Given the description of an element on the screen output the (x, y) to click on. 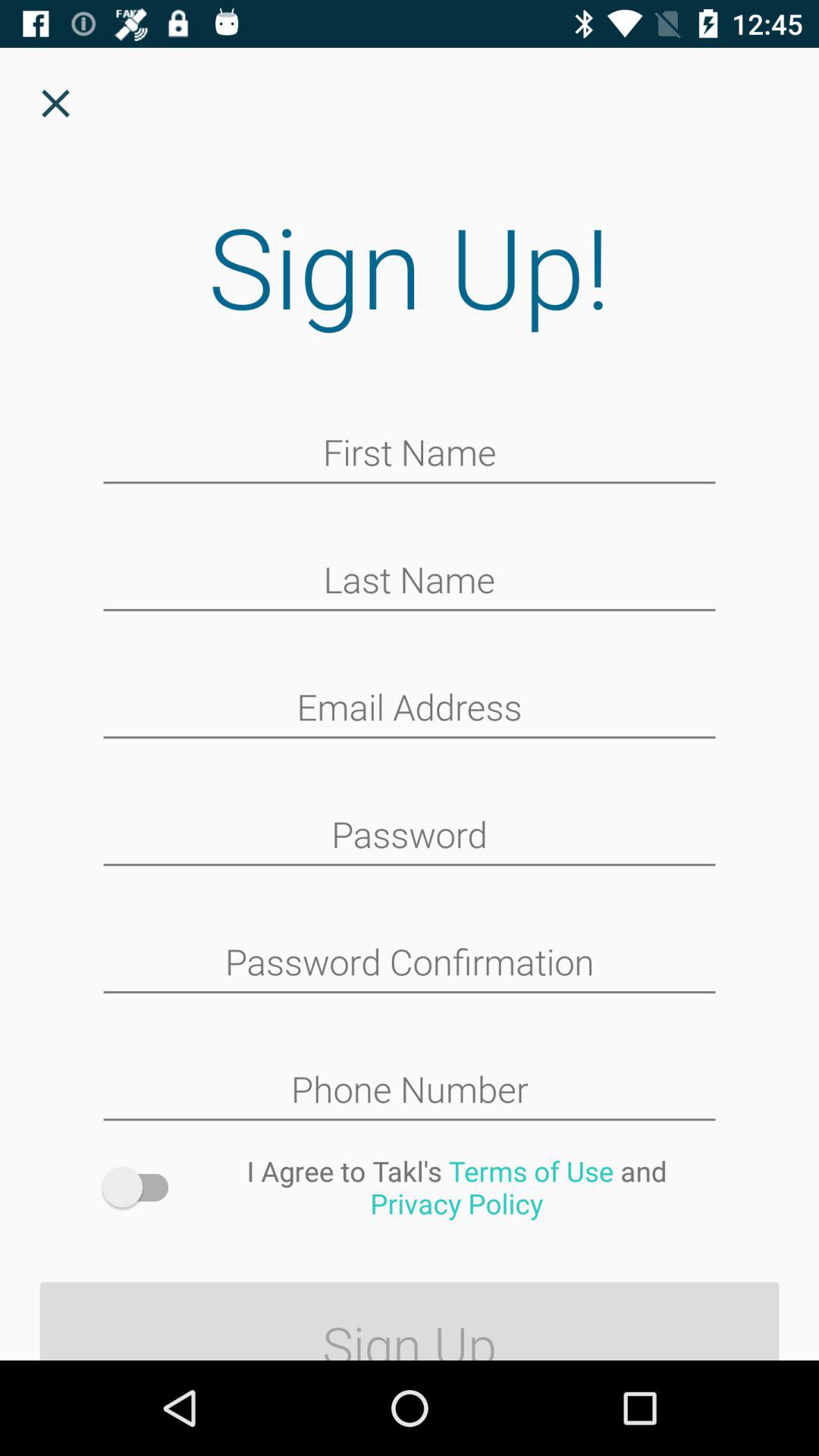
type phone number (409, 1091)
